Given the description of an element on the screen output the (x, y) to click on. 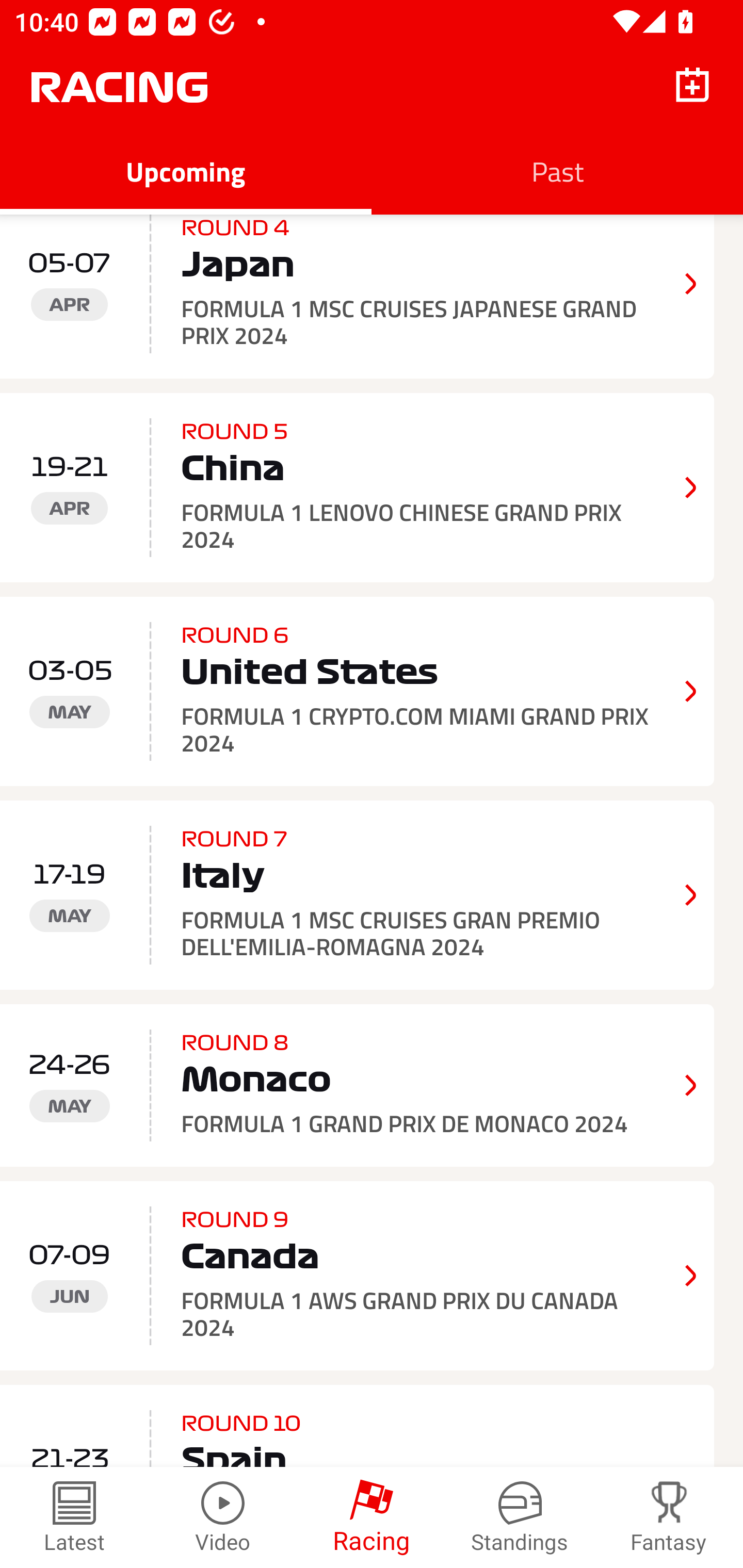
Past (557, 171)
Latest (74, 1517)
Video (222, 1517)
Standings (519, 1517)
Fantasy (668, 1517)
